Given the description of an element on the screen output the (x, y) to click on. 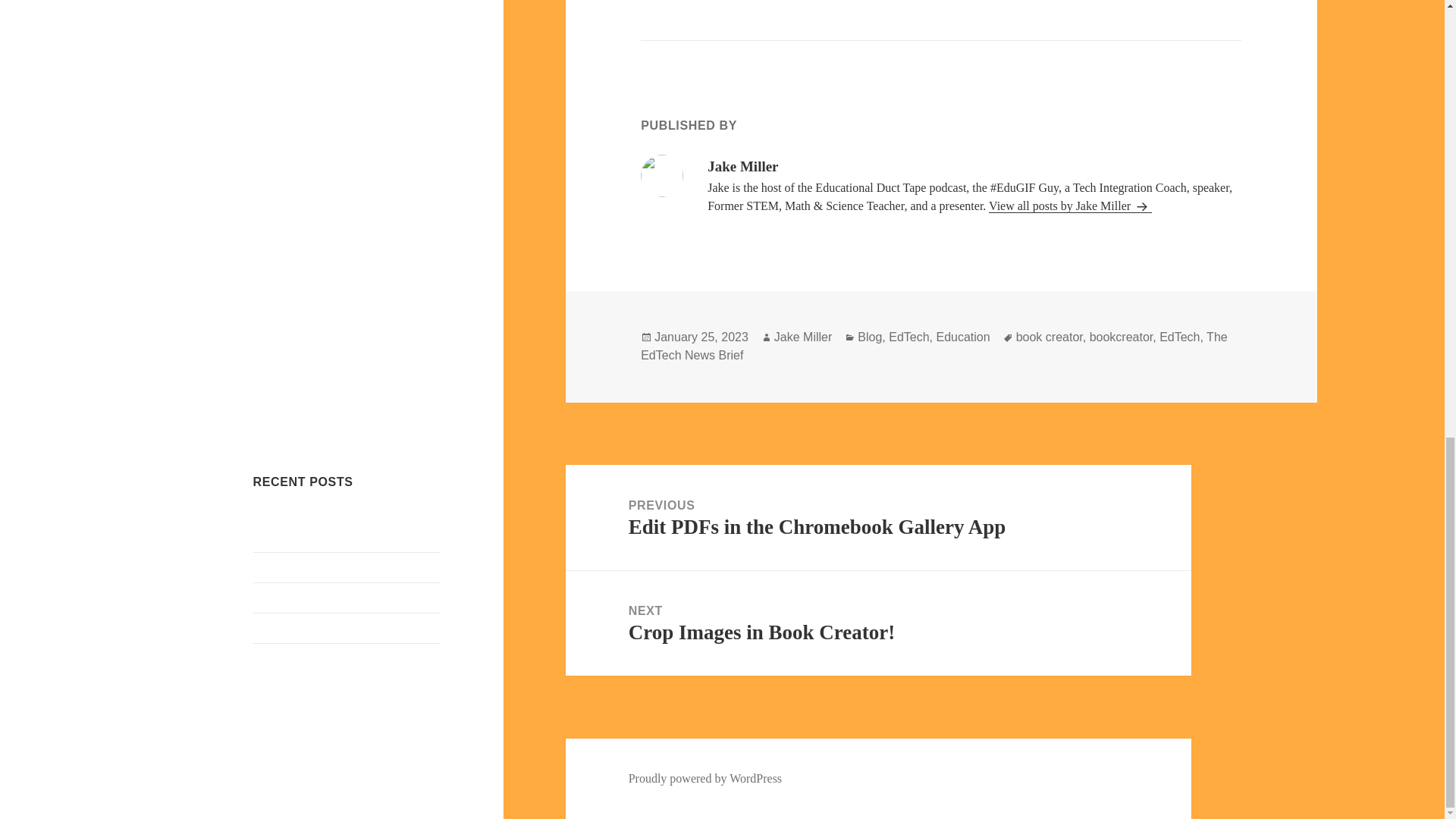
The EdTech News Brief (933, 346)
EdTech (908, 336)
Canva for Campus (298, 657)
Jake Miller (802, 336)
Blog (869, 336)
Proudly powered by WordPress (704, 778)
EdTech (1178, 336)
AI Detection Tools (878, 623)
View all posts by Jake Miller (299, 596)
Follow Feature in Google Slides (1069, 205)
ChatGPT Adds a Paid Plan (331, 566)
bookcreator (318, 626)
